Given the description of an element on the screen output the (x, y) to click on. 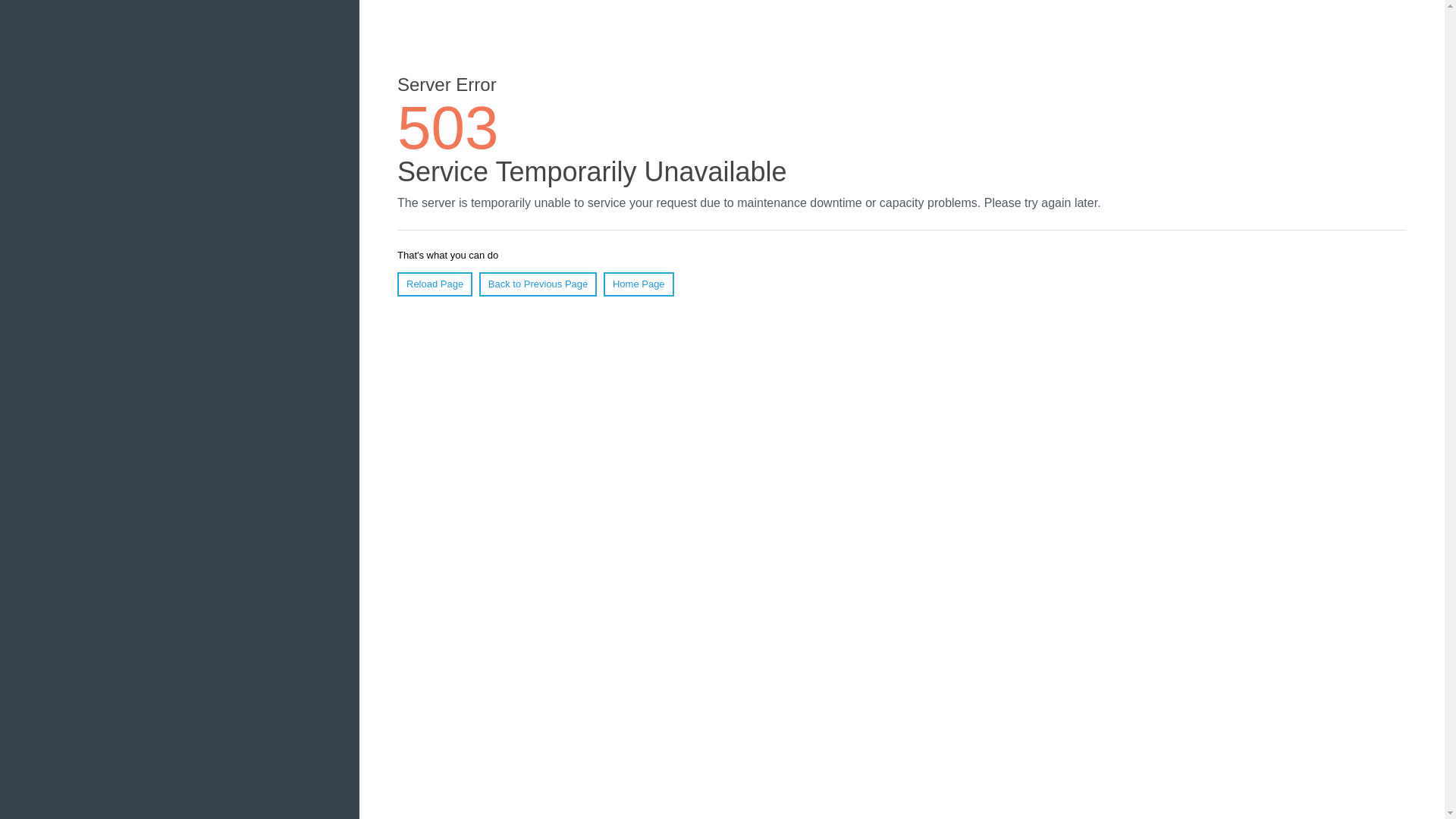
Home Page (639, 283)
Back to Previous Page (537, 283)
Reload Page (434, 283)
